Given the description of an element on the screen output the (x, y) to click on. 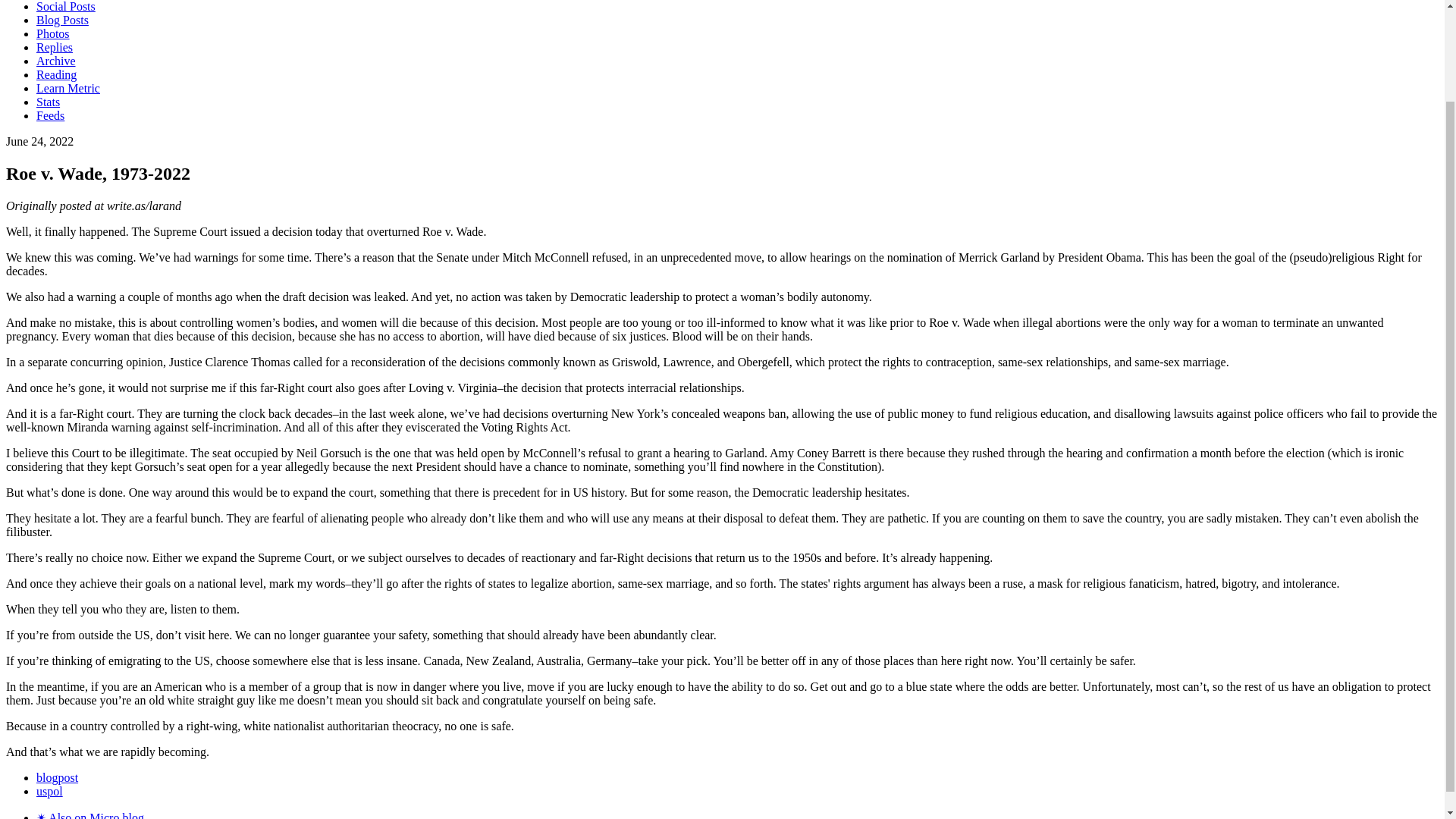
Feeds (50, 115)
Photos (52, 33)
uspol (49, 790)
Blog Posts (62, 19)
Stats (47, 101)
Replies (54, 47)
Archive (55, 60)
Reading (56, 74)
Learn Metric (68, 88)
Social Posts (66, 6)
